Given the description of an element on the screen output the (x, y) to click on. 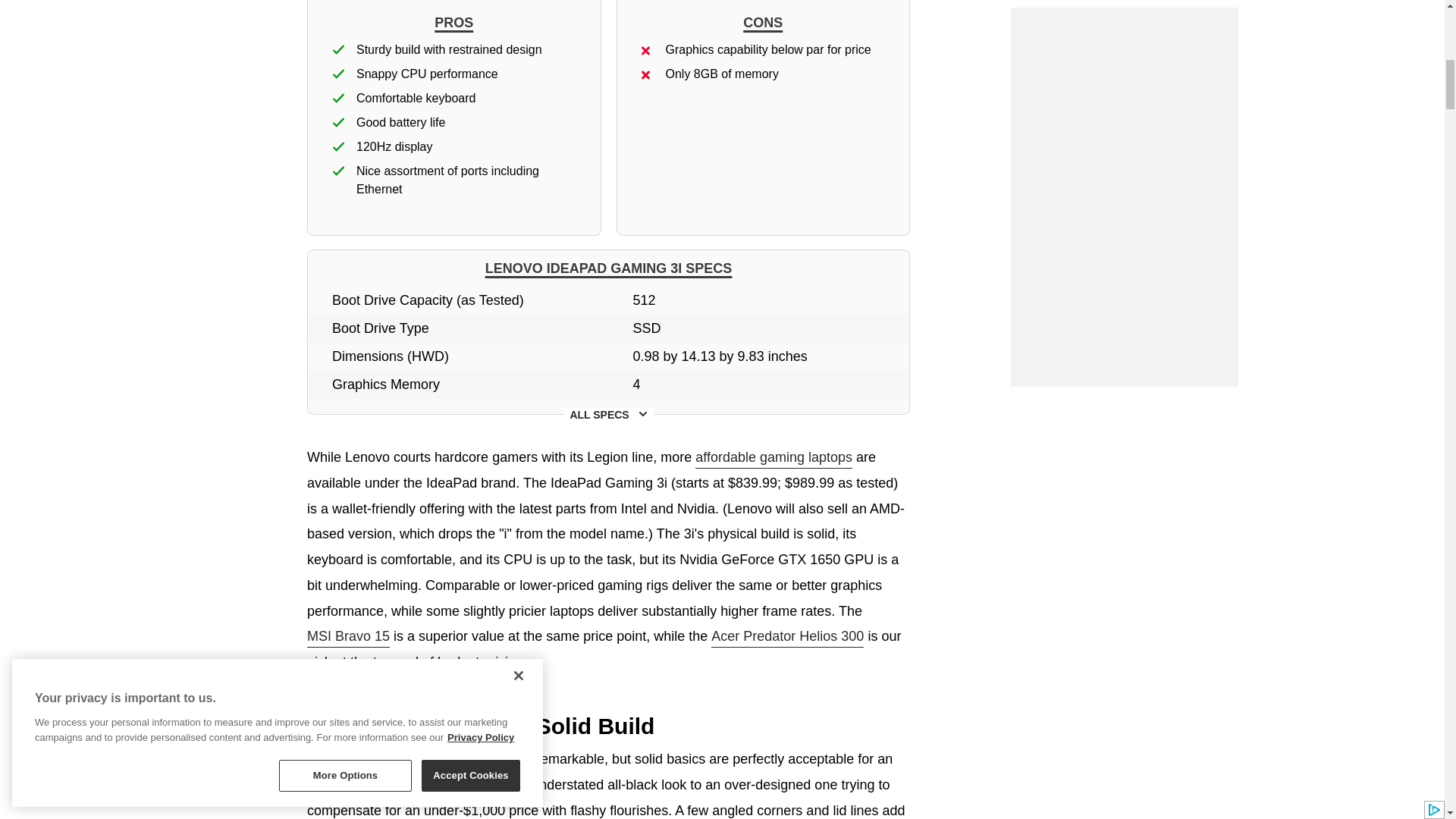
3rd party ad content (1123, 270)
3rd party ad content (1123, 88)
